Given the description of an element on the screen output the (x, y) to click on. 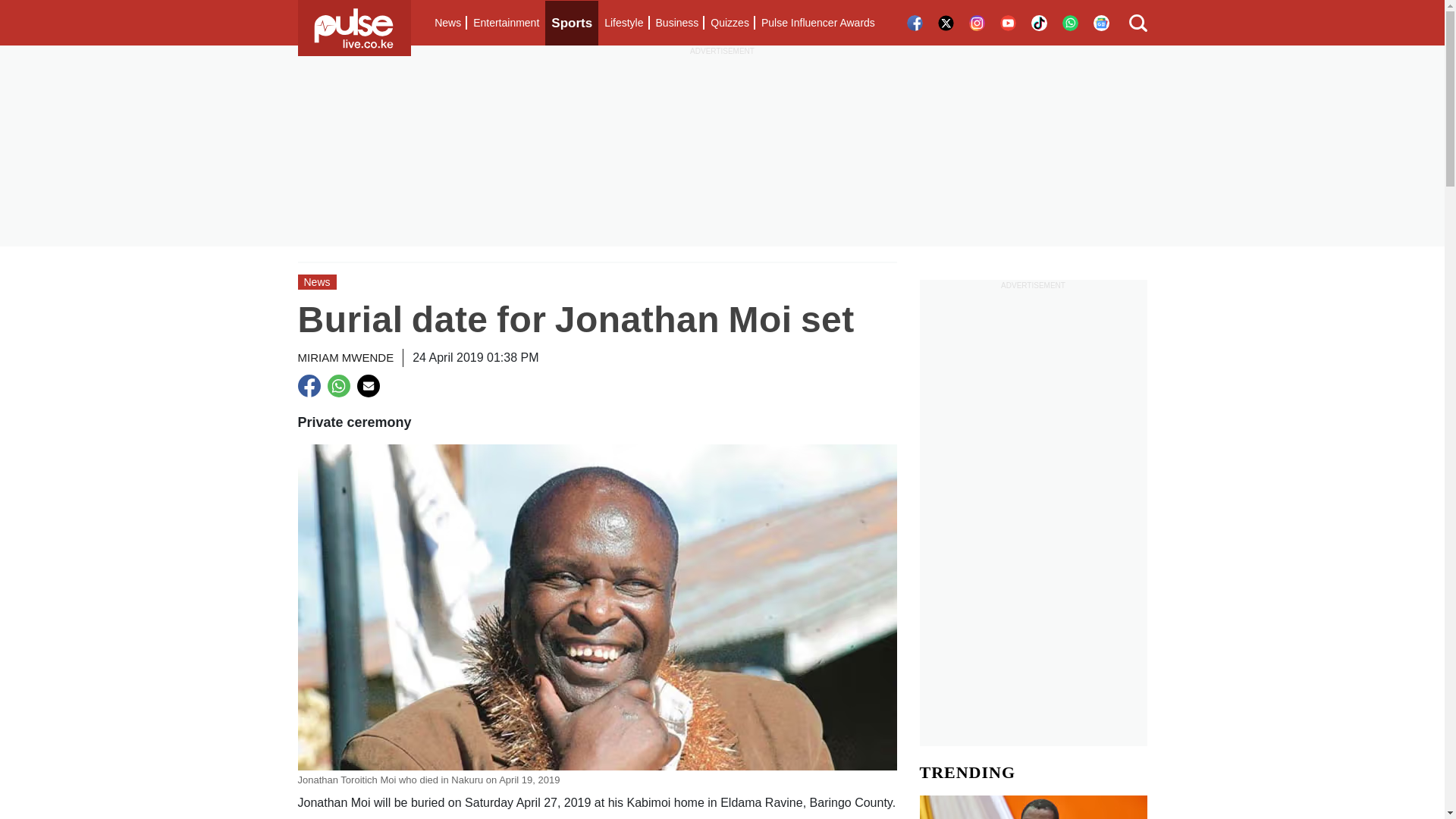
Lifestyle (623, 22)
Business (676, 22)
Entertainment (505, 22)
Quizzes (729, 22)
Pulse Influencer Awards (817, 22)
Sports (571, 22)
